Given the description of an element on the screen output the (x, y) to click on. 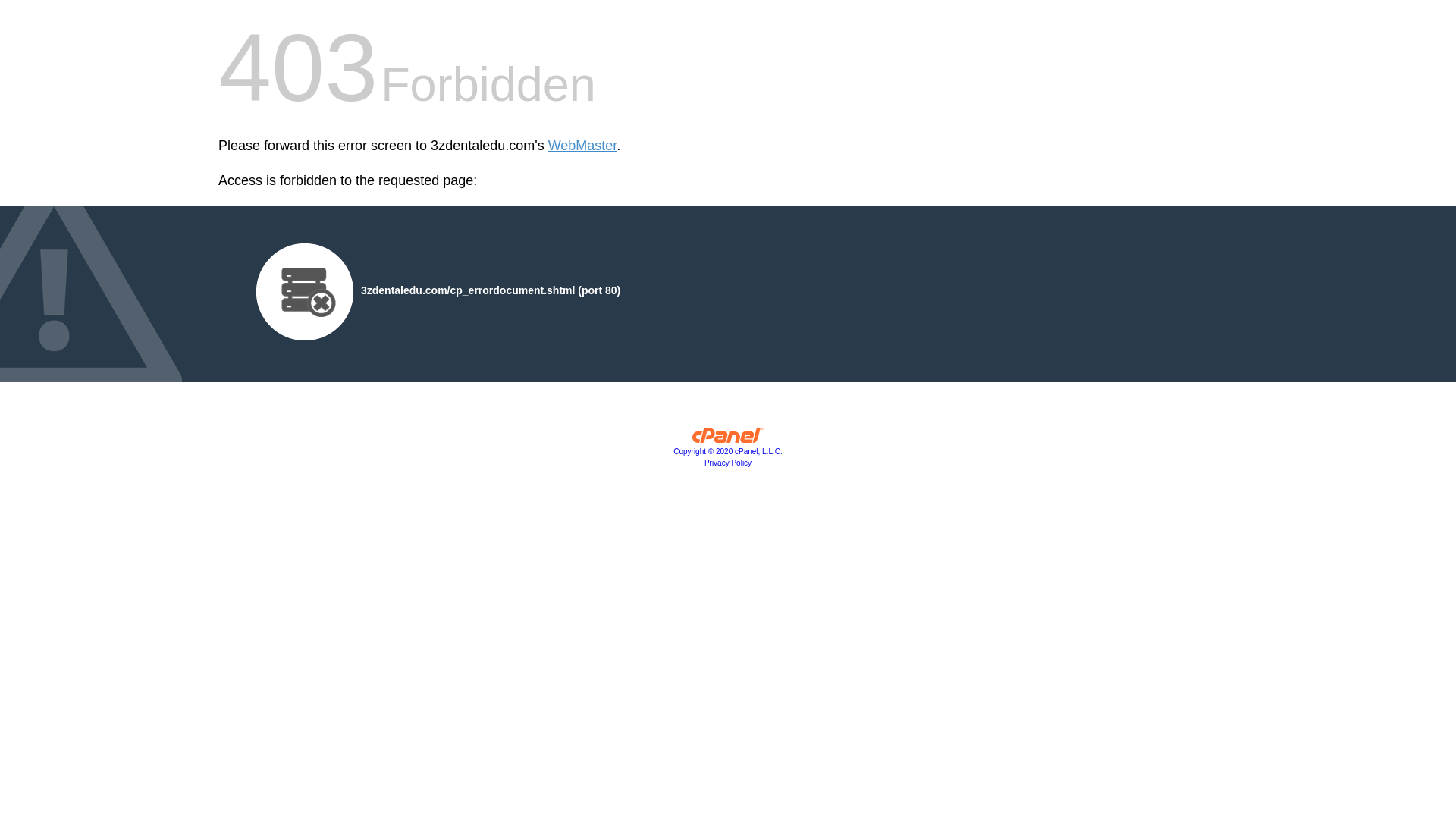
WebMaster Element type: text (582, 145)
Privacy Policy Element type: text (727, 462)
cPanel, Inc. Element type: hover (728, 439)
